Given the description of an element on the screen output the (x, y) to click on. 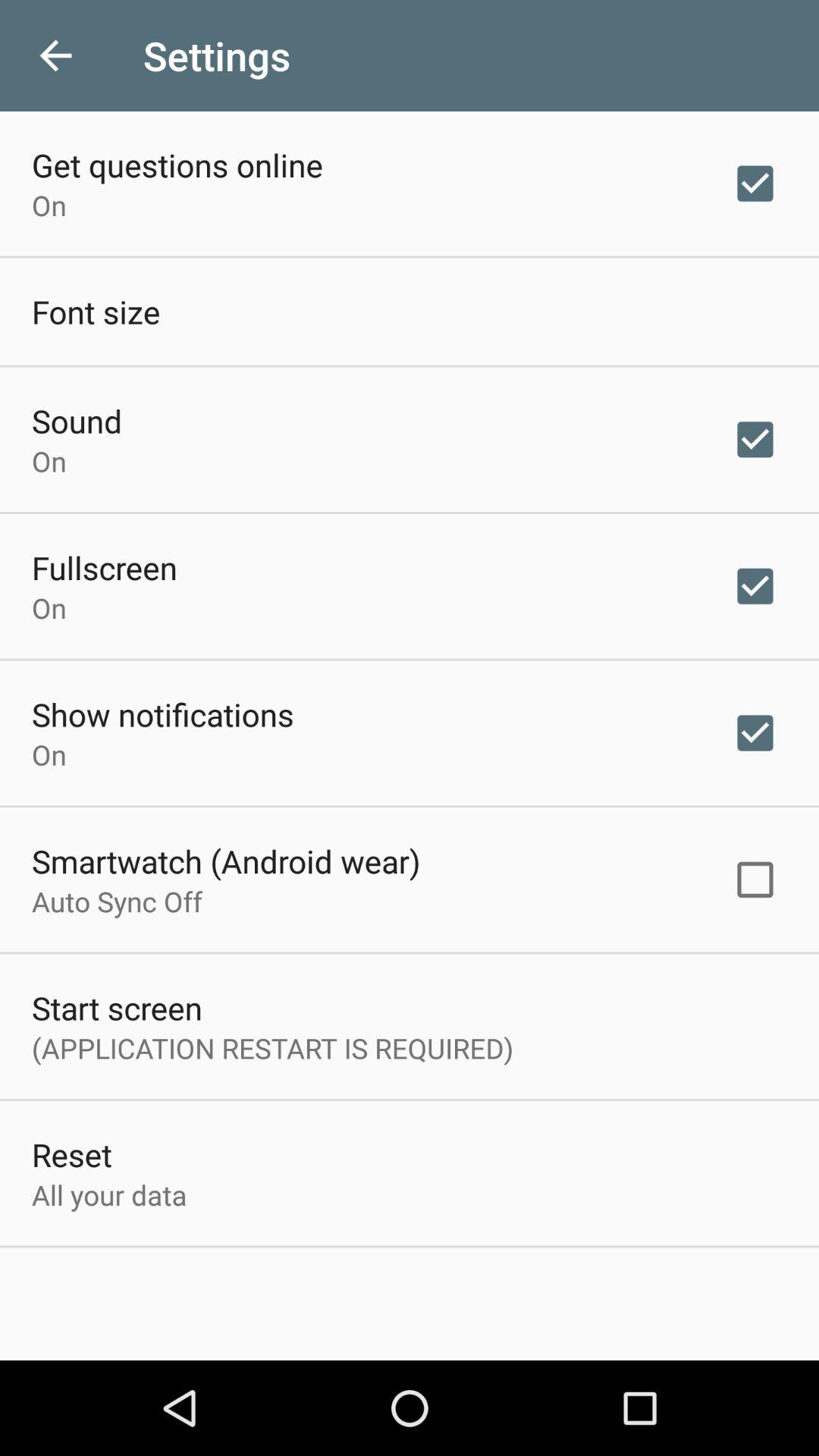
press item above all your data (71, 1154)
